Given the description of an element on the screen output the (x, y) to click on. 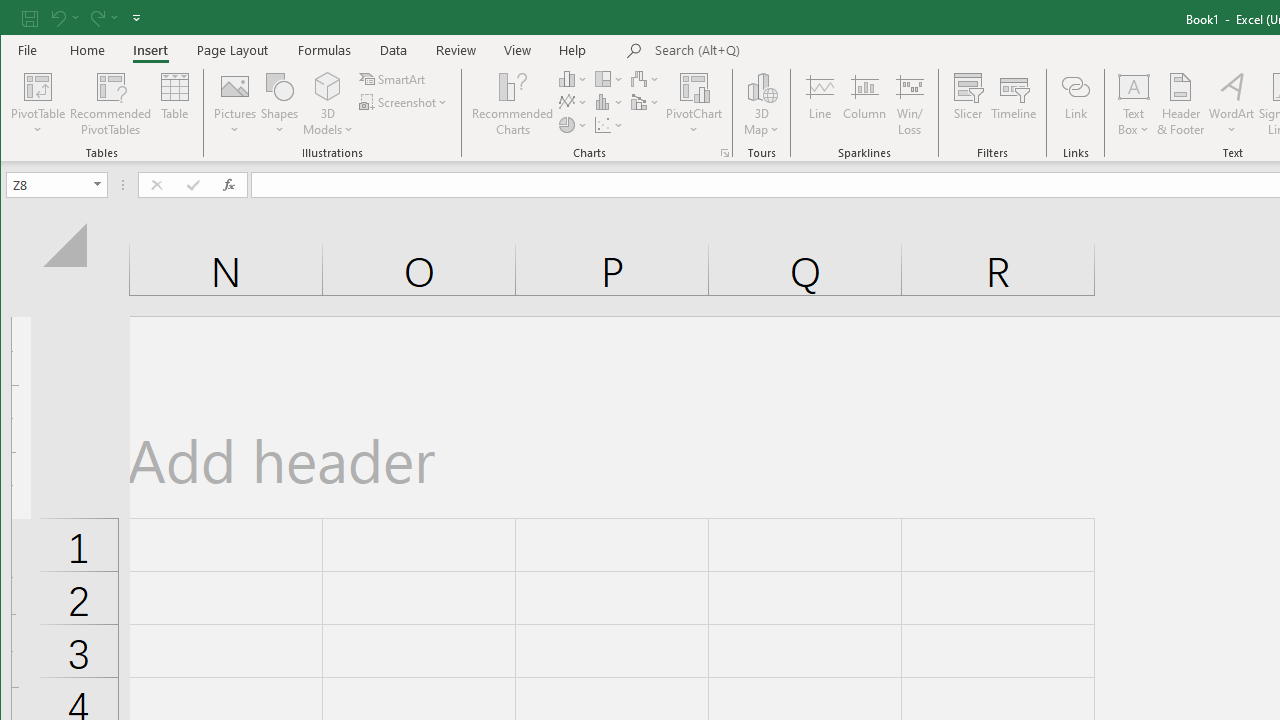
Line (819, 104)
Insert Scatter (X, Y) or Bubble Chart (609, 124)
Insert Pie or Doughnut Chart (573, 124)
Insert Column or Bar Chart (573, 78)
Insert Hierarchy Chart (609, 78)
Insert Statistic Chart (609, 101)
Insert Combo Chart (646, 101)
Win/Loss (909, 104)
Link (1075, 104)
Insert Waterfall, Funnel, Stock, Surface, or Radar Chart (646, 78)
